Given the description of an element on the screen output the (x, y) to click on. 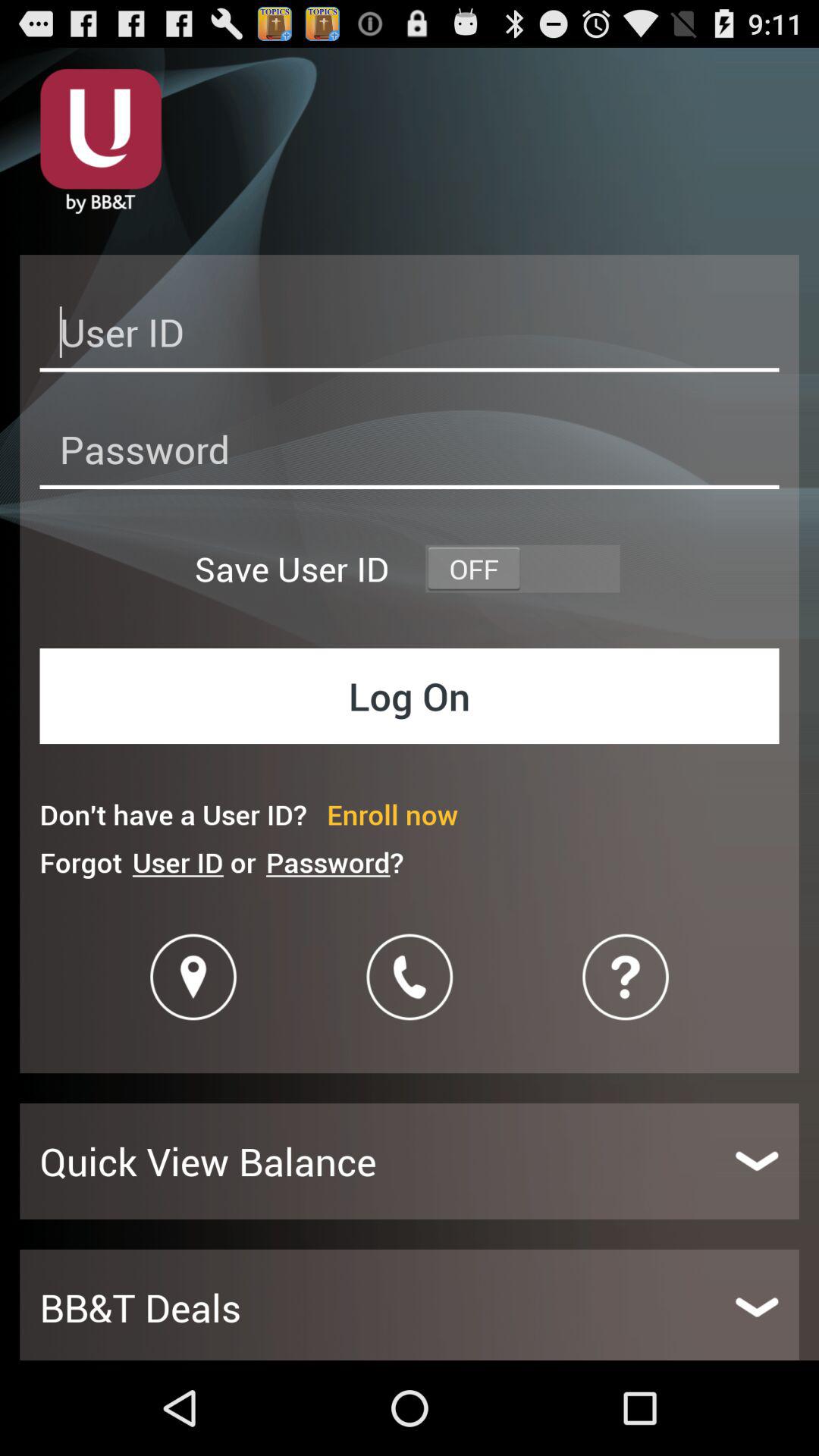
choose item above the don t have (409, 695)
